Given the description of an element on the screen output the (x, y) to click on. 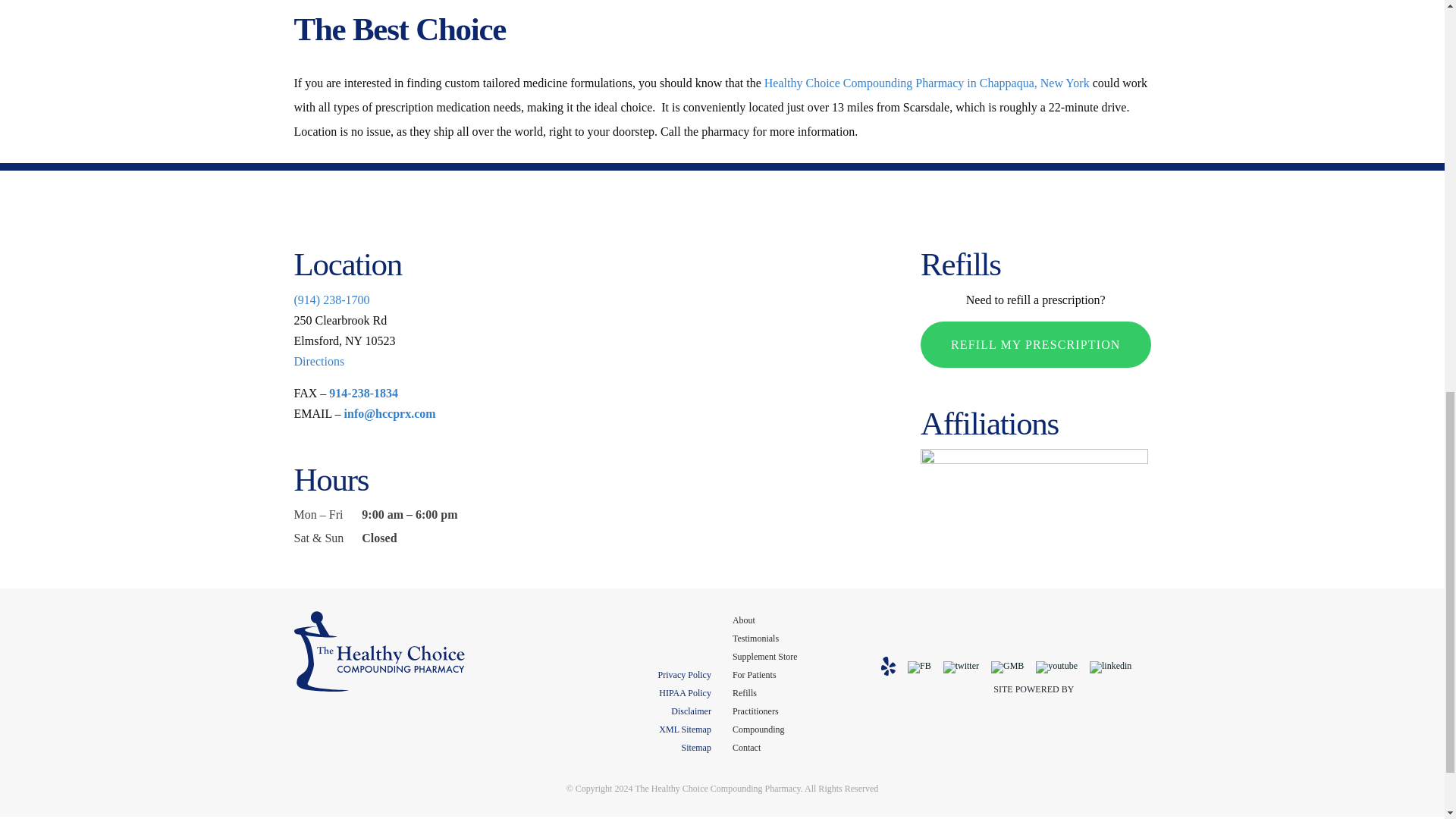
Directions (319, 360)
HIPAA Policy (685, 692)
Healthy Choice Compounding Pharmacy in Chappaqua, New York (926, 82)
Privacy Policy (684, 674)
REFILL MY PRESCRIPTION (1035, 344)
914-238-1834 (363, 392)
